Given the description of an element on the screen output the (x, y) to click on. 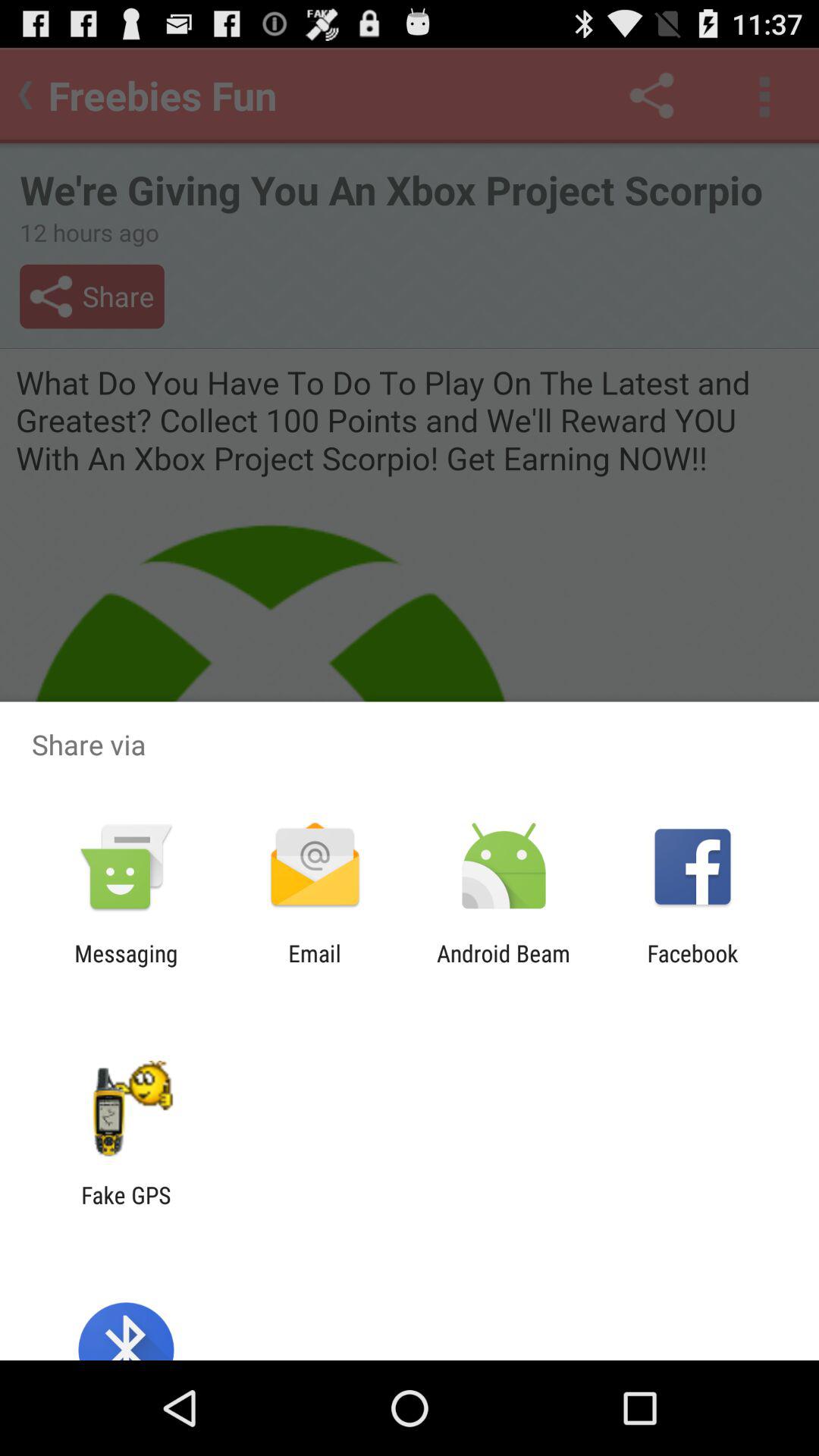
select item next to the facebook (503, 966)
